Given the description of an element on the screen output the (x, y) to click on. 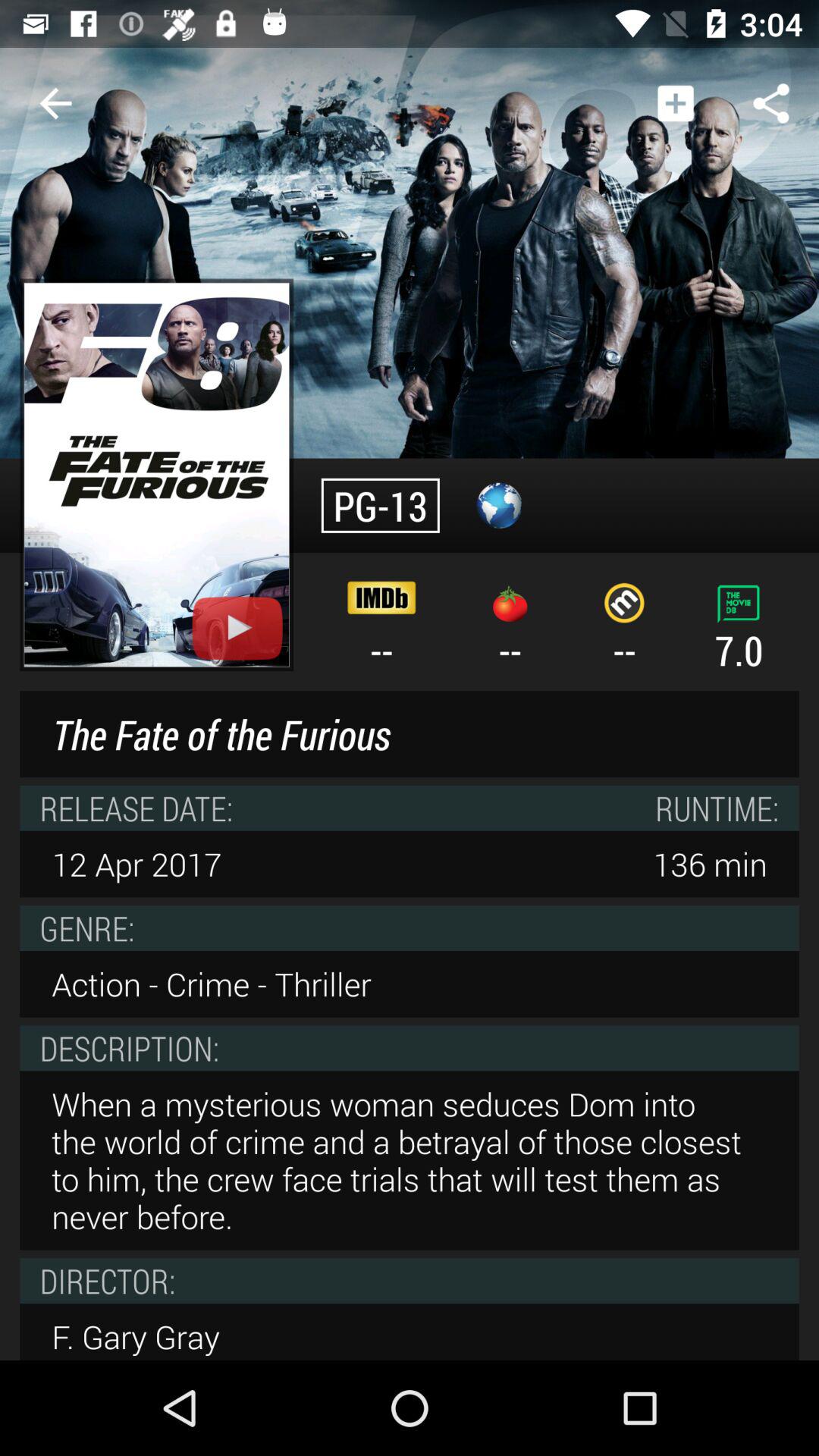
turn on icon to the left of the   app (55, 103)
